Given the description of an element on the screen output the (x, y) to click on. 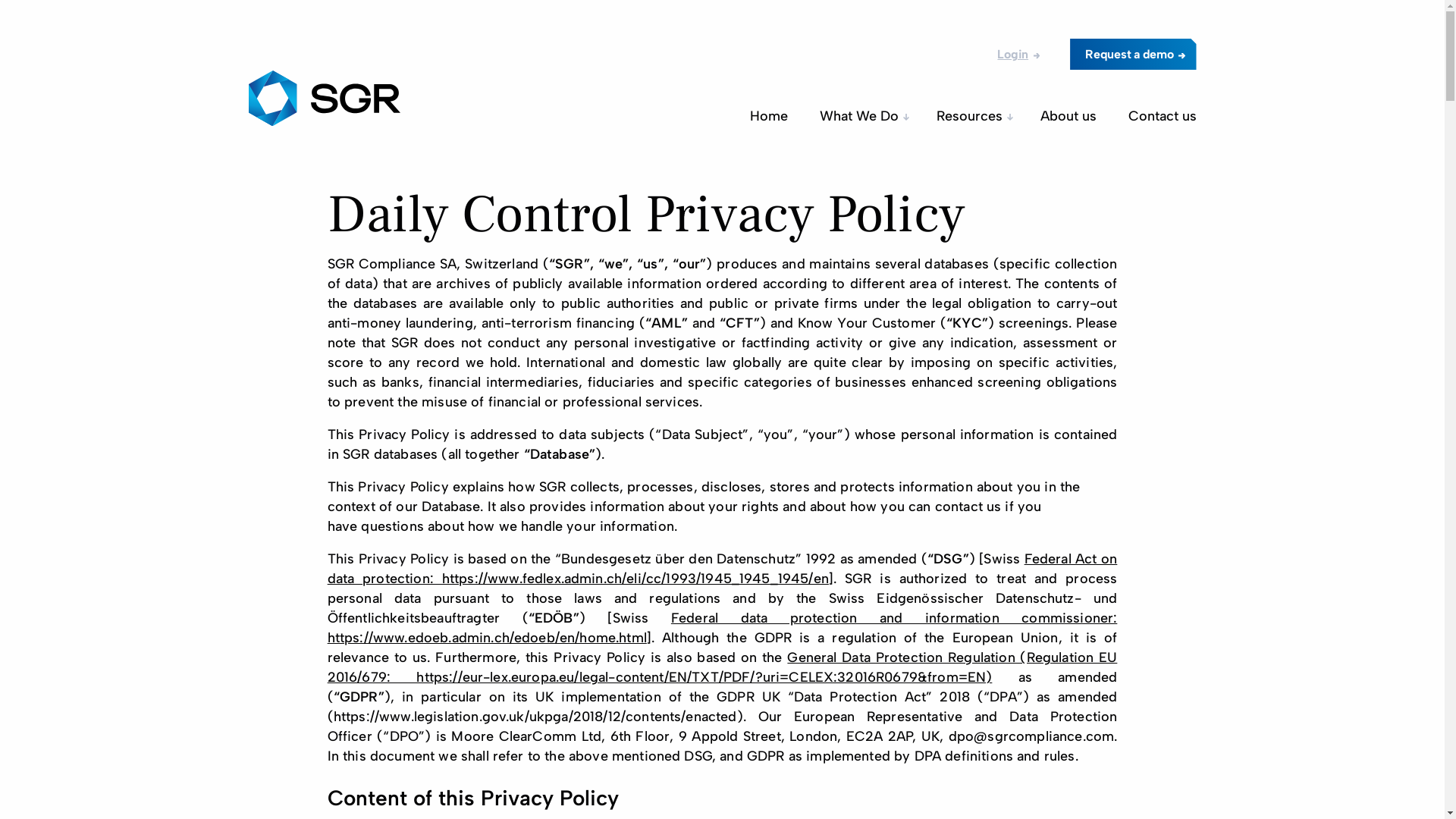
Login (1010, 53)
Resources (971, 115)
Request a demo (1132, 53)
Contact us (1156, 115)
About us (1067, 115)
Home (767, 115)
What We Do (860, 115)
